Given the description of an element on the screen output the (x, y) to click on. 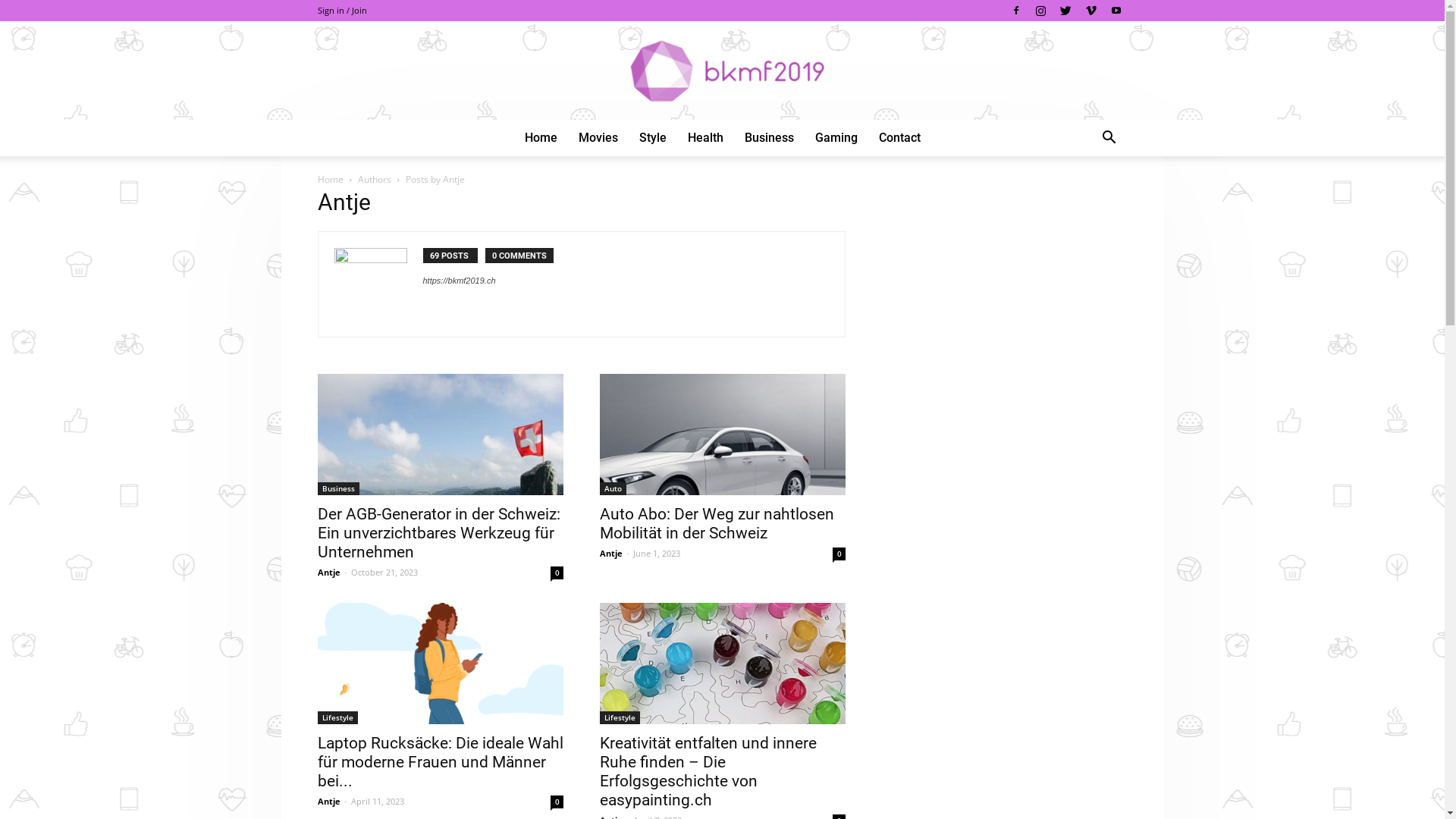
Style Element type: text (651, 137)
Business Element type: text (337, 488)
Antje Element type: text (610, 552)
Movies Element type: text (597, 137)
Search Element type: text (1085, 198)
Youtube Element type: hover (1115, 10)
Twitter Element type: hover (1065, 10)
Antje Element type: text (327, 571)
Home Element type: text (540, 137)
Business Element type: text (769, 137)
Instagram Element type: hover (1040, 10)
Bkmf2019 Element type: text (722, 71)
Facebook Element type: hover (1015, 10)
Gaming Element type: text (835, 137)
Auto Element type: text (612, 488)
Antje Element type: text (327, 800)
https://bkmf2019.ch Element type: text (459, 280)
0 Element type: text (556, 572)
Lifestyle Element type: text (619, 717)
0 Element type: text (556, 801)
0 Element type: text (838, 553)
Contact Element type: text (898, 137)
Lifestyle Element type: text (336, 717)
Sign in / Join Element type: text (341, 9)
Health Element type: text (704, 137)
Vimeo Element type: hover (1090, 10)
Home Element type: text (329, 178)
